Given the description of an element on the screen output the (x, y) to click on. 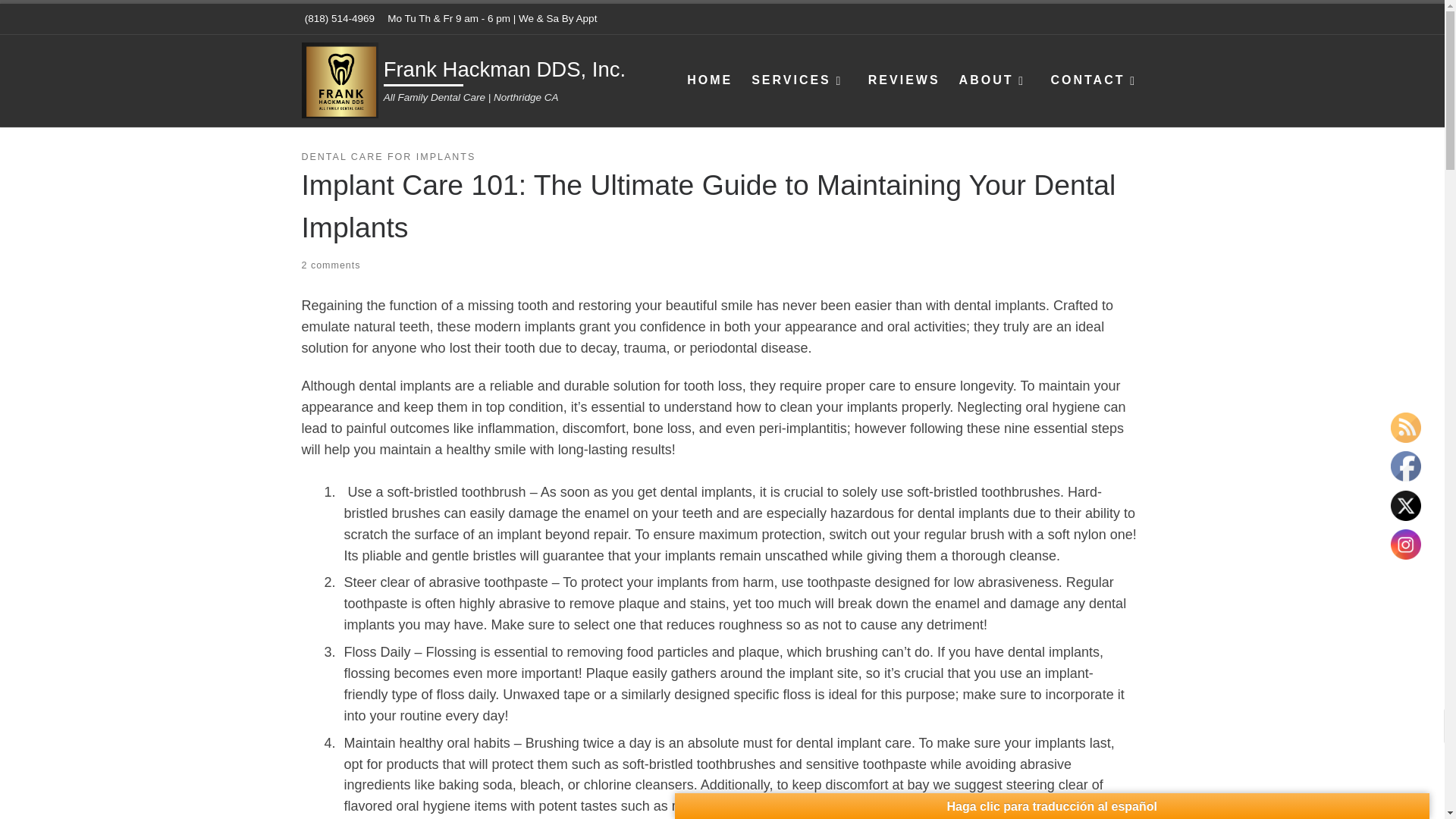
ABOUT (994, 80)
Skip to content (60, 20)
CONTACT (1096, 80)
SERVICES (799, 80)
REVIEWS (903, 80)
View all posts in Dental Care for Implants (388, 156)
Frank Hackman DDS, Inc. (505, 71)
HOME (710, 80)
